Given the description of an element on the screen output the (x, y) to click on. 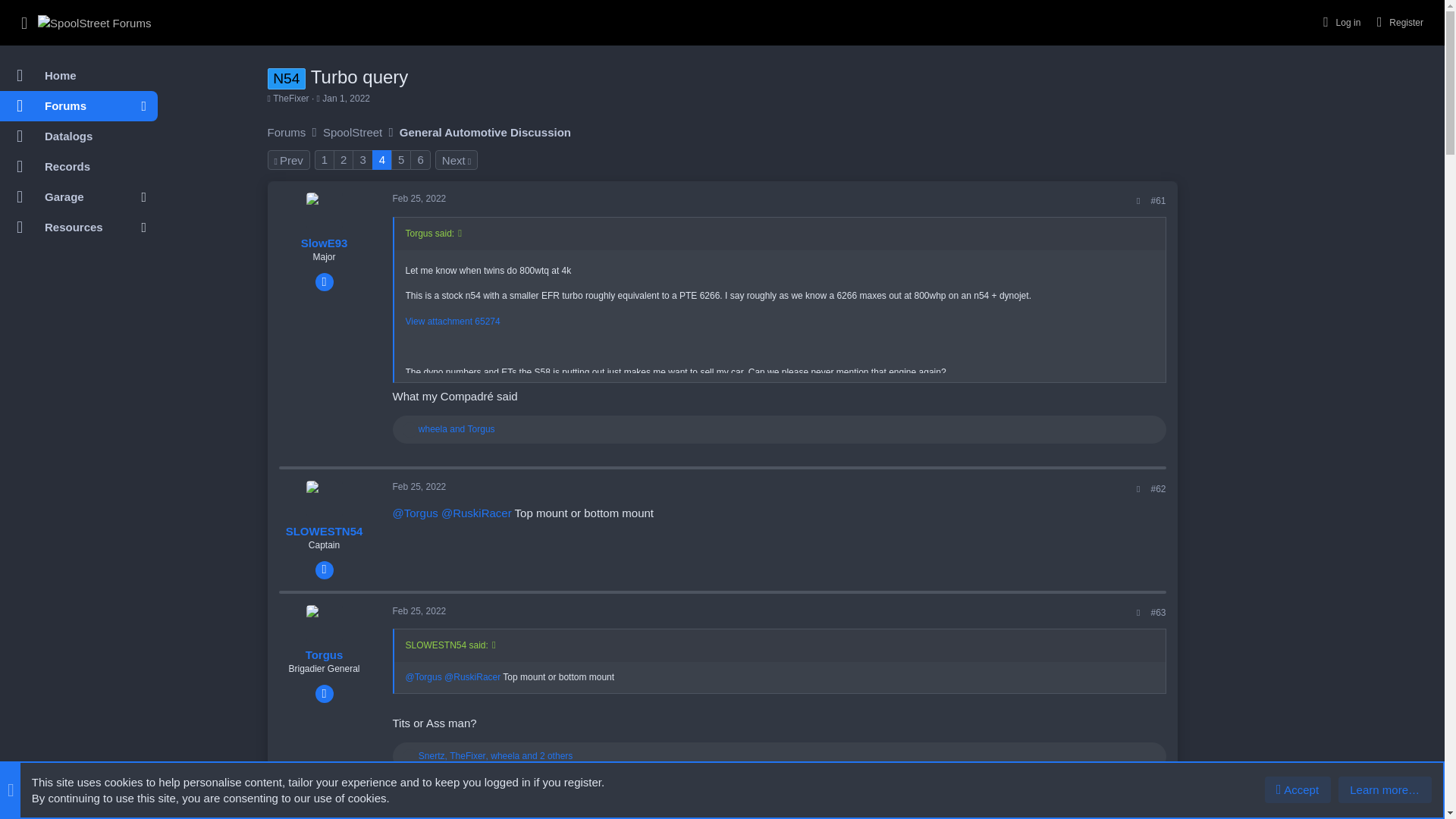
Garage (59, 196)
4 (381, 159)
5 (400, 159)
Prev (287, 159)
TheFixer (290, 98)
Forums (64, 105)
Resources (63, 227)
Forums (285, 132)
General Automotive Discussion (484, 132)
2 (343, 159)
Jan 1, 2022 at 4:04 PM (345, 98)
Register (1398, 21)
Jan 1, 2022 (345, 98)
Log in (1340, 21)
Feb 25, 2022 at 10:36 AM (419, 198)
